Given the description of an element on the screen output the (x, y) to click on. 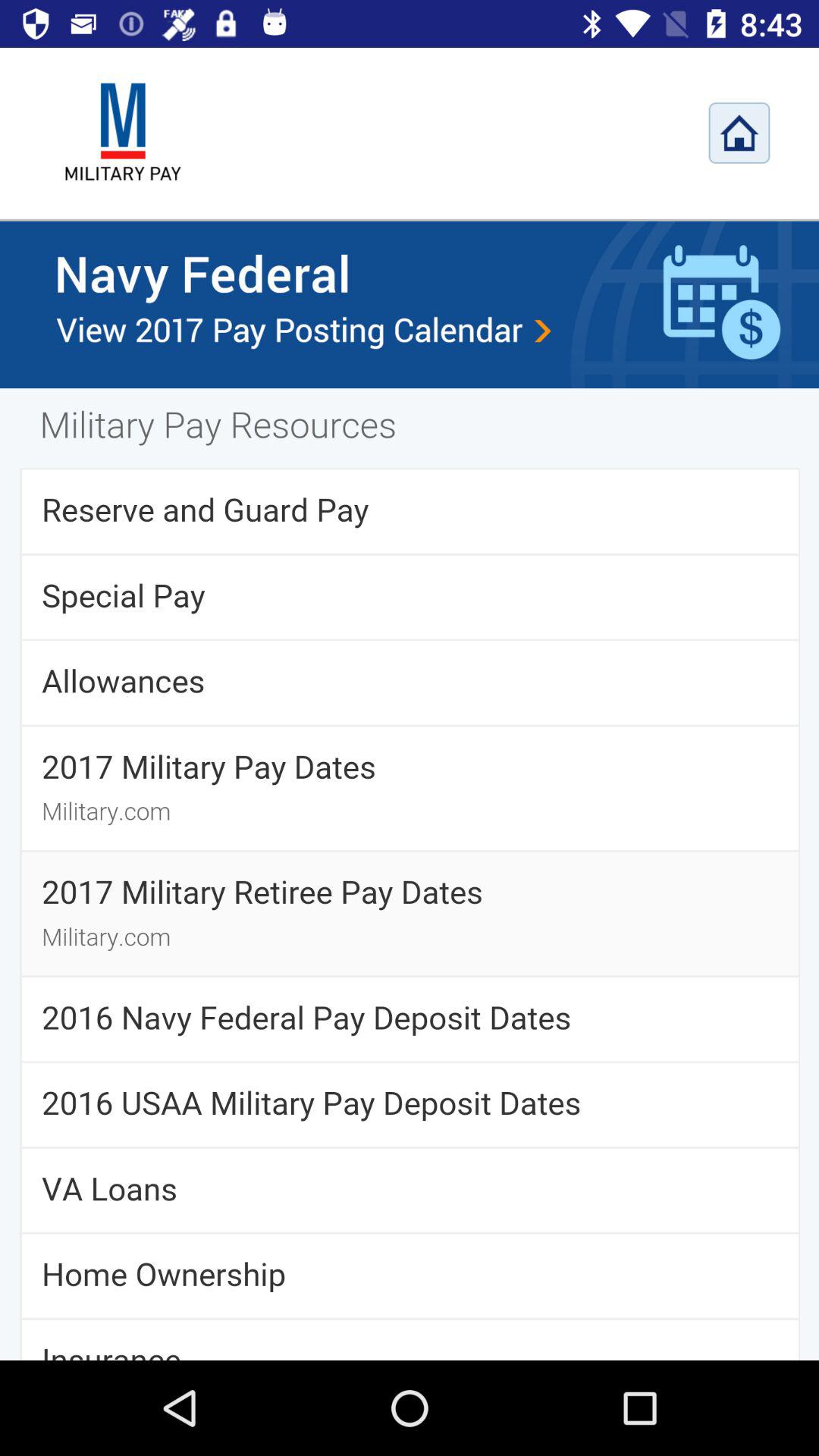
go home (739, 132)
